Given the description of an element on the screen output the (x, y) to click on. 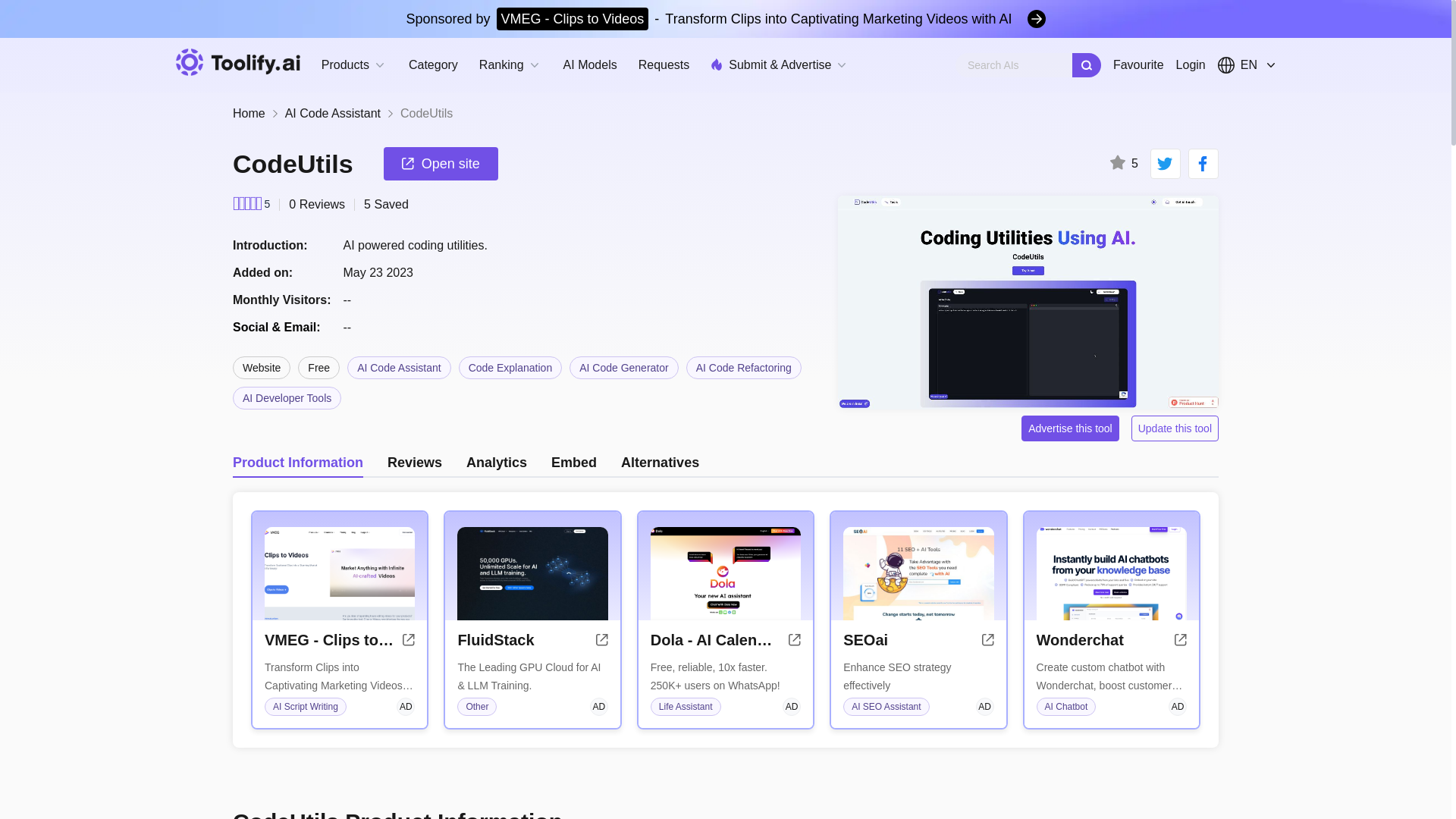
Transform Clips into Captivating Marketing Videos with AI (339, 676)
AI Code Generator (623, 367)
Products (354, 64)
Product InformationReviewsAnalyticsEmbedAlternatives (725, 462)
AI Models (590, 64)
FluidStack (495, 639)
AI Code Assistant (332, 113)
AI Code Refactoring (743, 367)
EN (1246, 64)
Open site (440, 163)
